Given the description of an element on the screen output the (x, y) to click on. 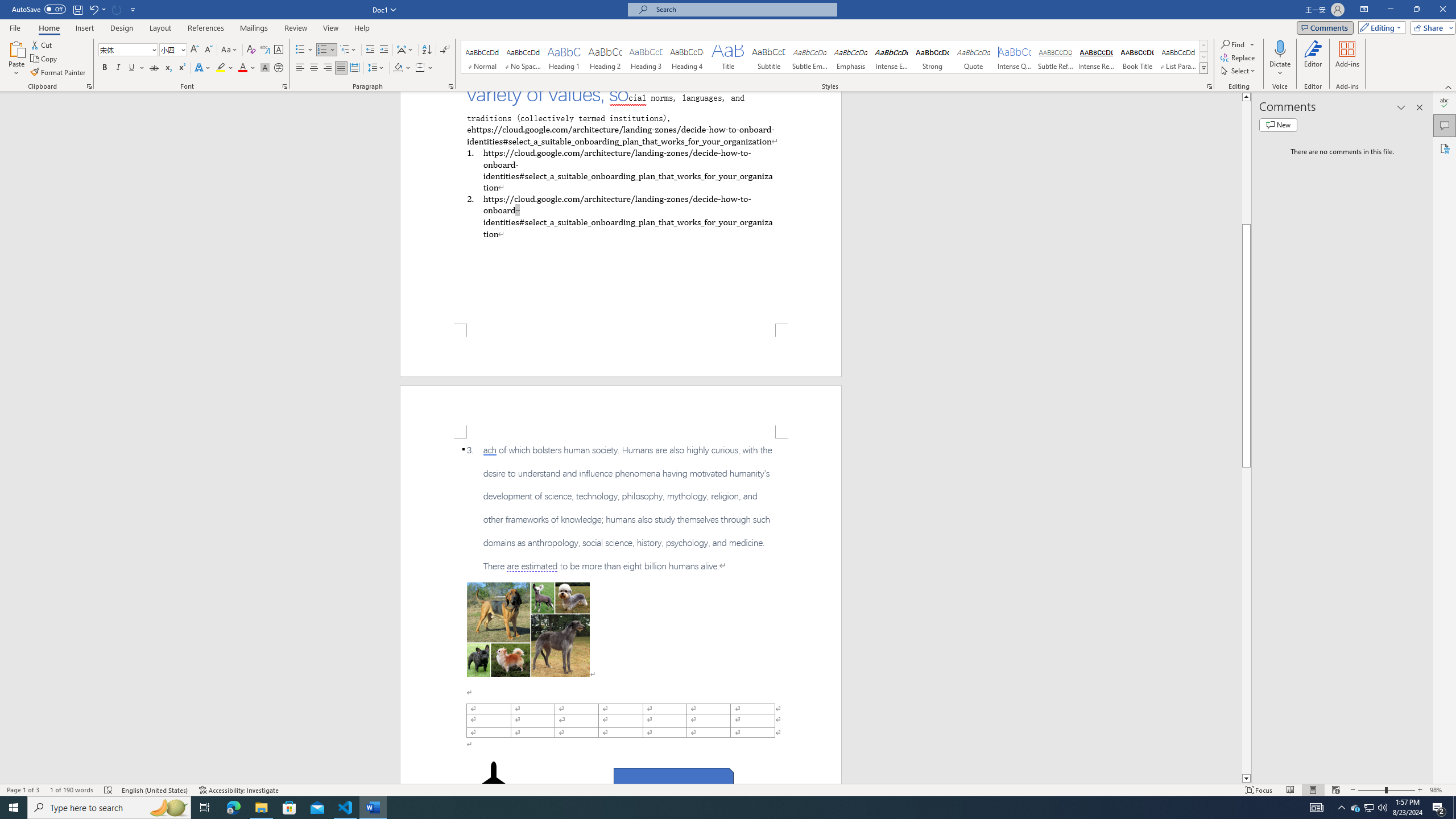
3. (620, 507)
Font Color Automatic (241, 67)
Show/Hide Editing Marks (444, 49)
Intense Emphasis (891, 56)
Undo Apply Quick Style (92, 9)
Character Shading (264, 67)
Line and Paragraph Spacing (376, 67)
Bold (104, 67)
Footer -Section 1- (620, 349)
